Given the description of an element on the screen output the (x, y) to click on. 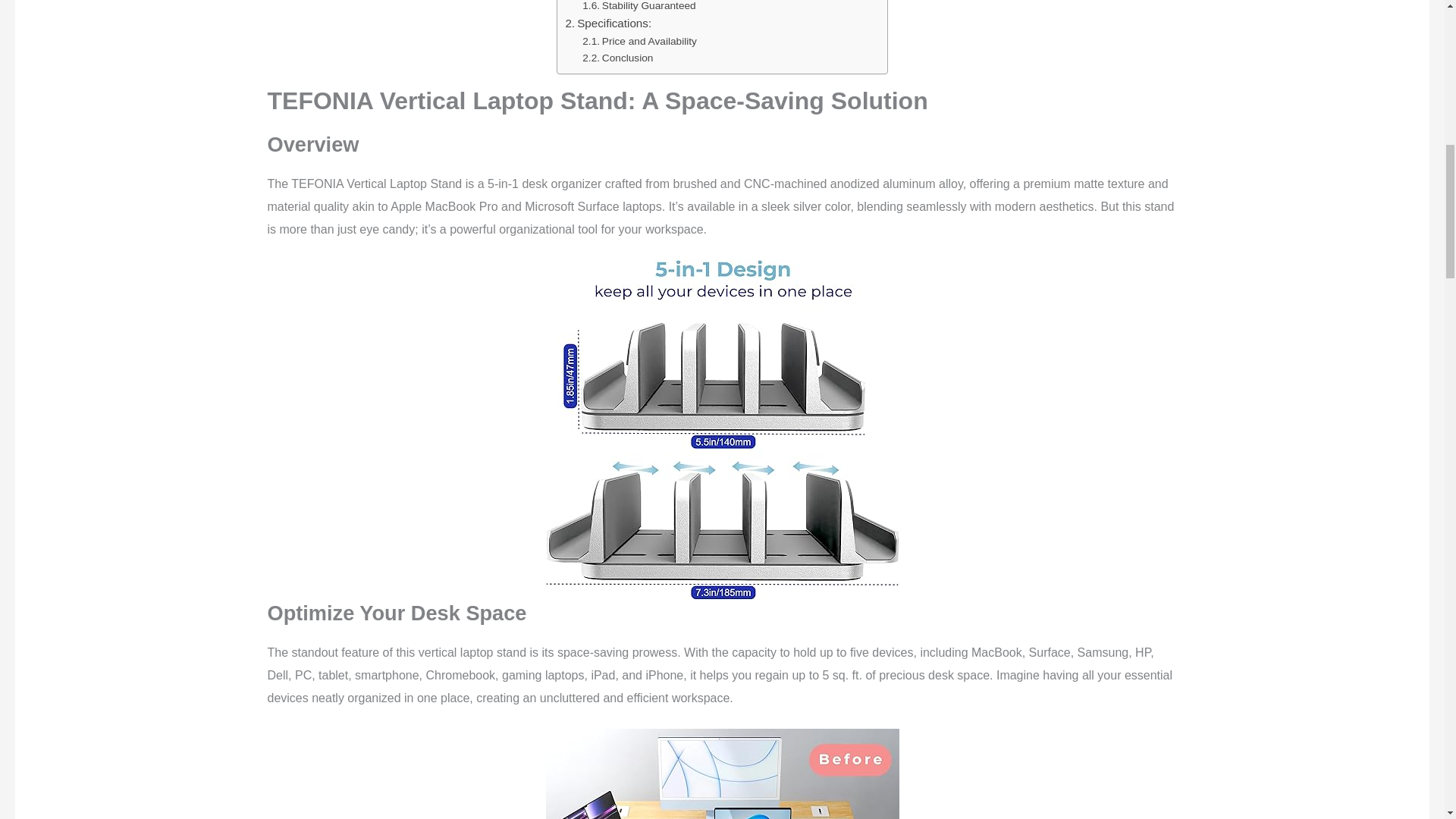
Stability Guaranteed (638, 7)
Specifications: (607, 23)
Conclusion (617, 57)
Conclusion (617, 57)
Specifications: (607, 23)
Price and Availability (639, 41)
Stability Guaranteed (638, 7)
Price and Availability (639, 41)
